Given the description of an element on the screen output the (x, y) to click on. 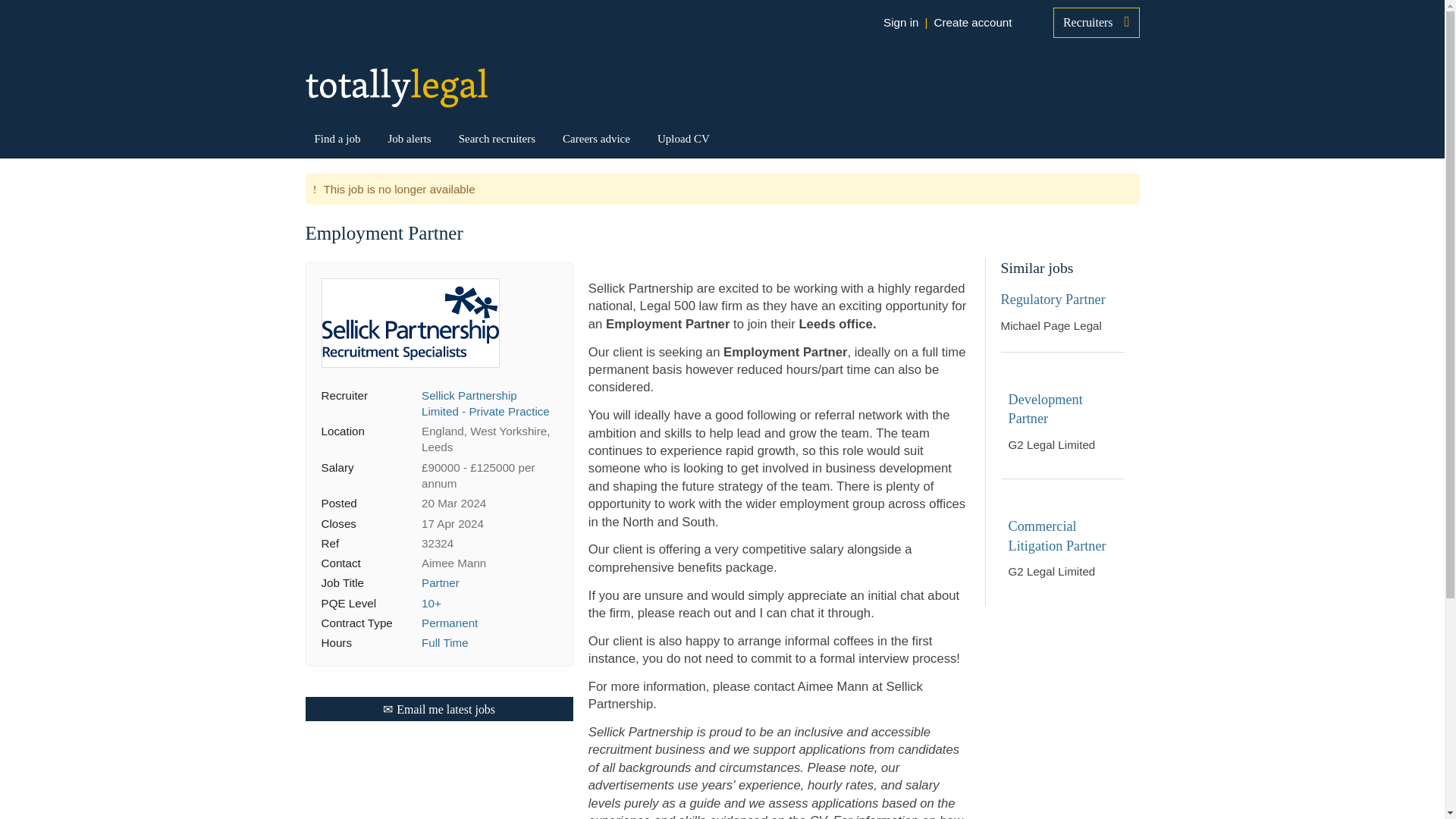
Permanent (449, 622)
Search recruiters (496, 138)
Find a job (336, 138)
Careers advice (596, 138)
Sellick Partnership Limited - Private Practice (486, 403)
Job alerts (408, 138)
Upload CV (684, 138)
TotallyLegal (395, 87)
Create account (972, 22)
Email me latest jobs (438, 708)
